Given the description of an element on the screen output the (x, y) to click on. 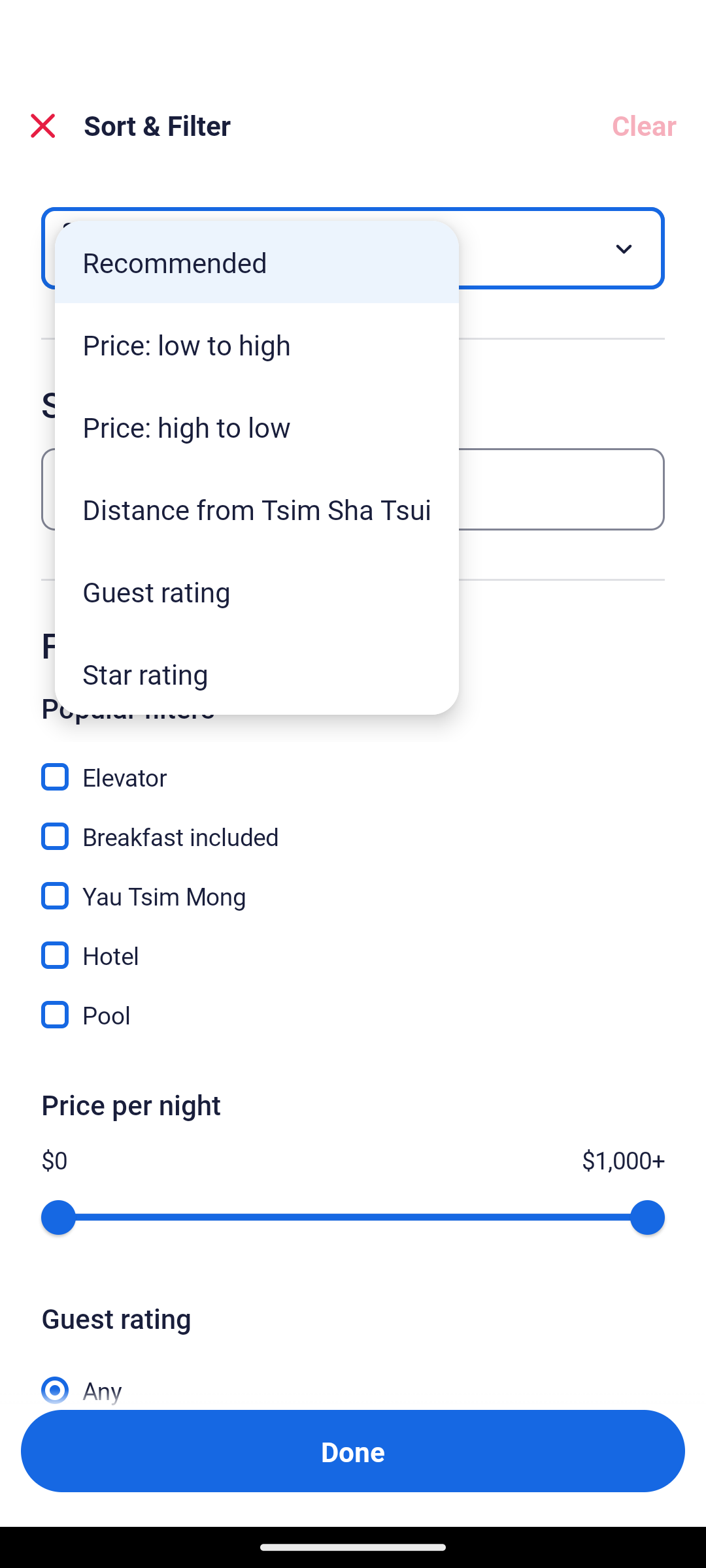
Price: low to high (256, 343)
Price: high to low (256, 426)
Distance from Tsim Sha Tsui (256, 508)
Guest rating (256, 590)
Star rating (256, 673)
